Given the description of an element on the screen output the (x, y) to click on. 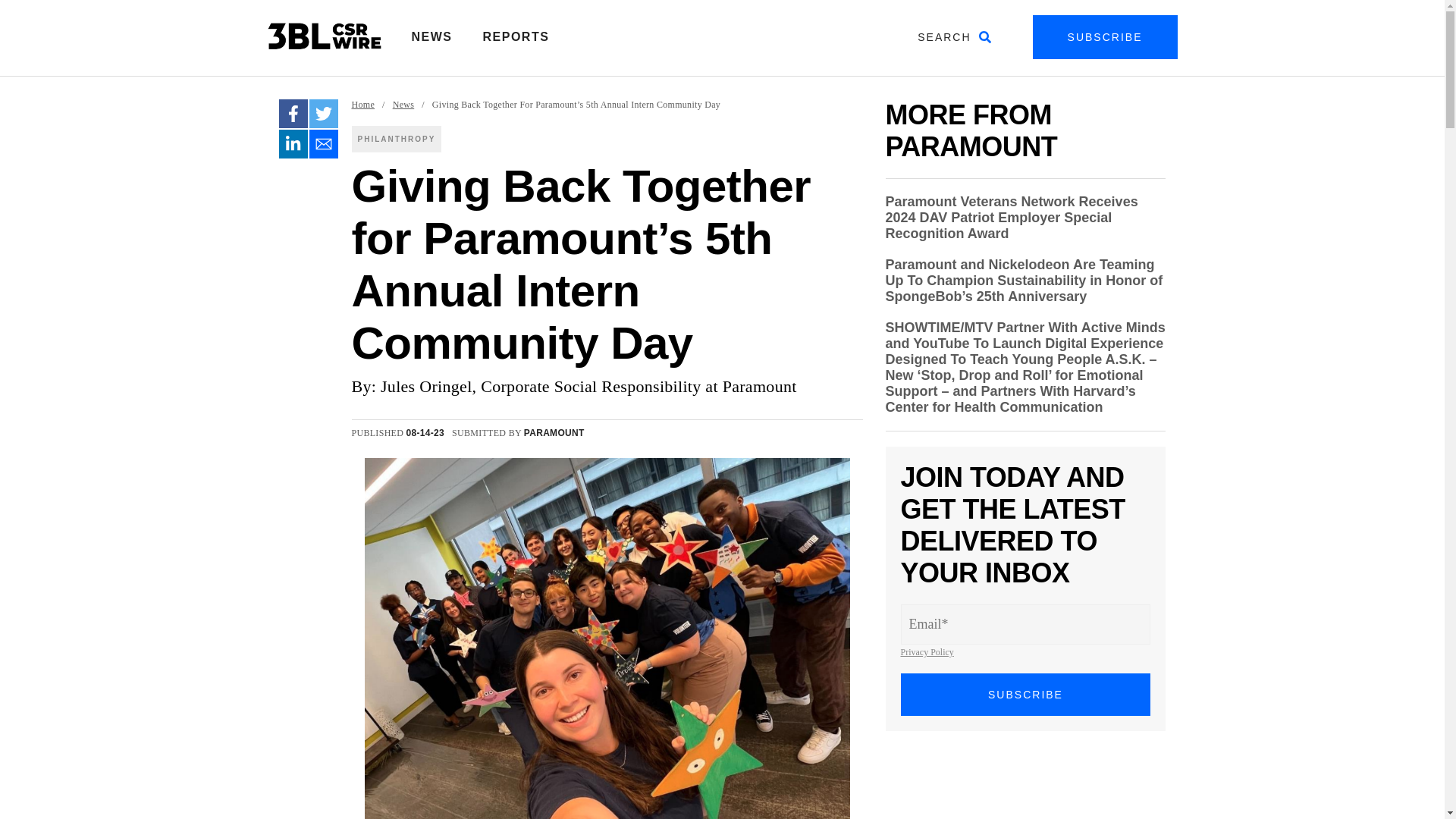
SEARCH (953, 36)
Linkedin (293, 143)
PHILANTHROPY (397, 139)
Twitter (322, 113)
Home (363, 104)
News (403, 104)
SUBSCRIBE (1104, 36)
Privacy Policy (927, 652)
Facebook (293, 113)
